Given the description of an element on the screen output the (x, y) to click on. 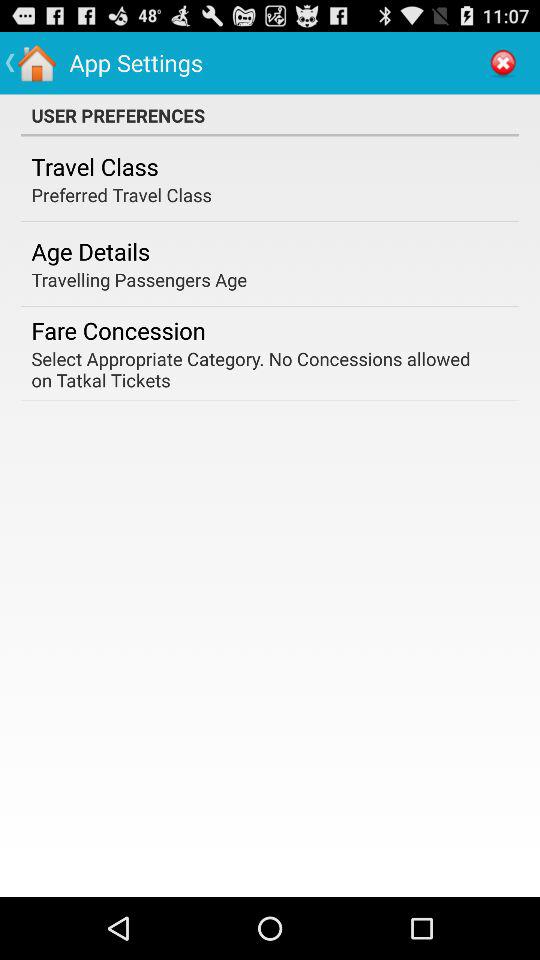
swipe to the travelling passengers age item (139, 279)
